Given the description of an element on the screen output the (x, y) to click on. 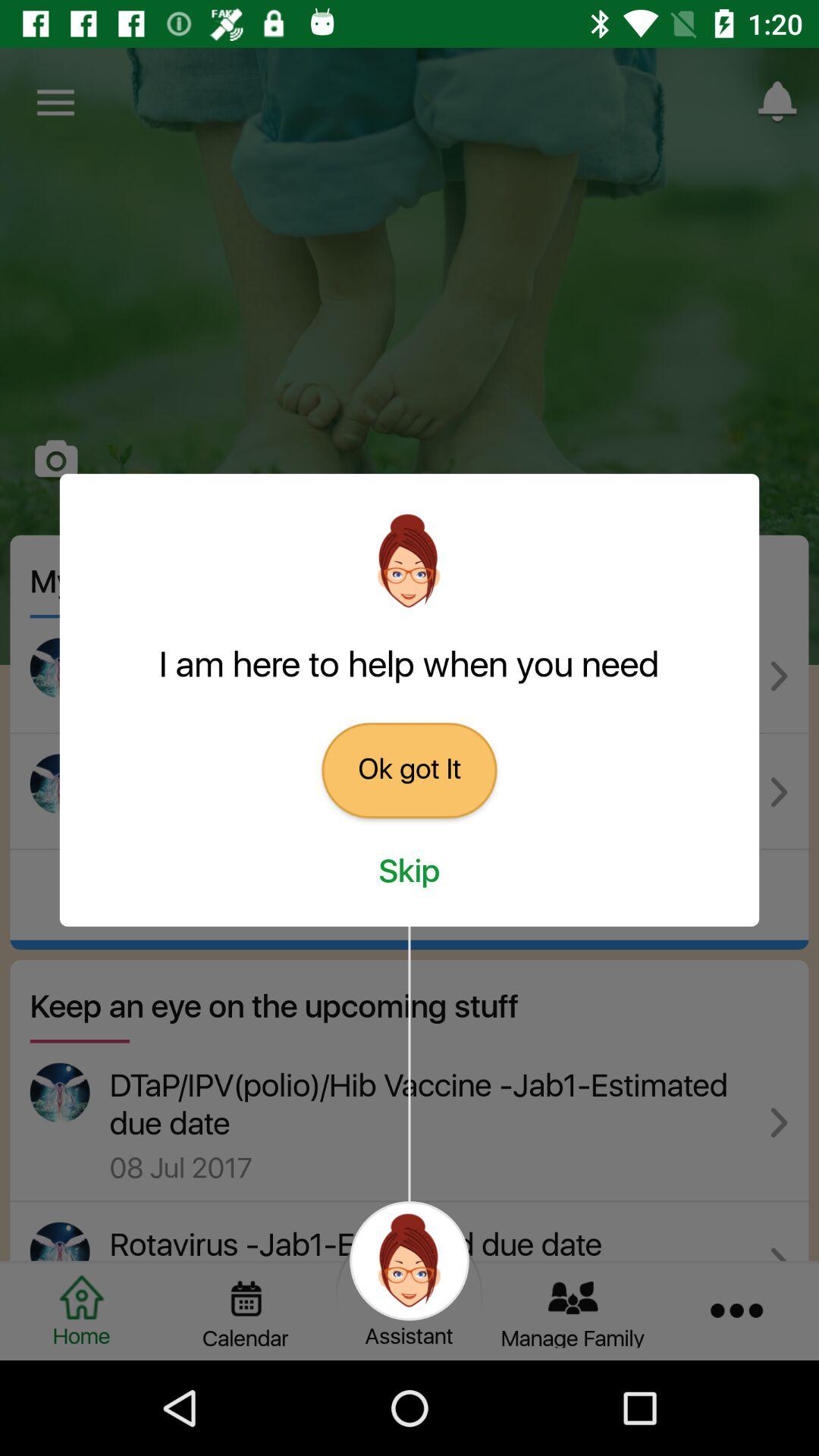
jump until skip item (409, 872)
